Given the description of an element on the screen output the (x, y) to click on. 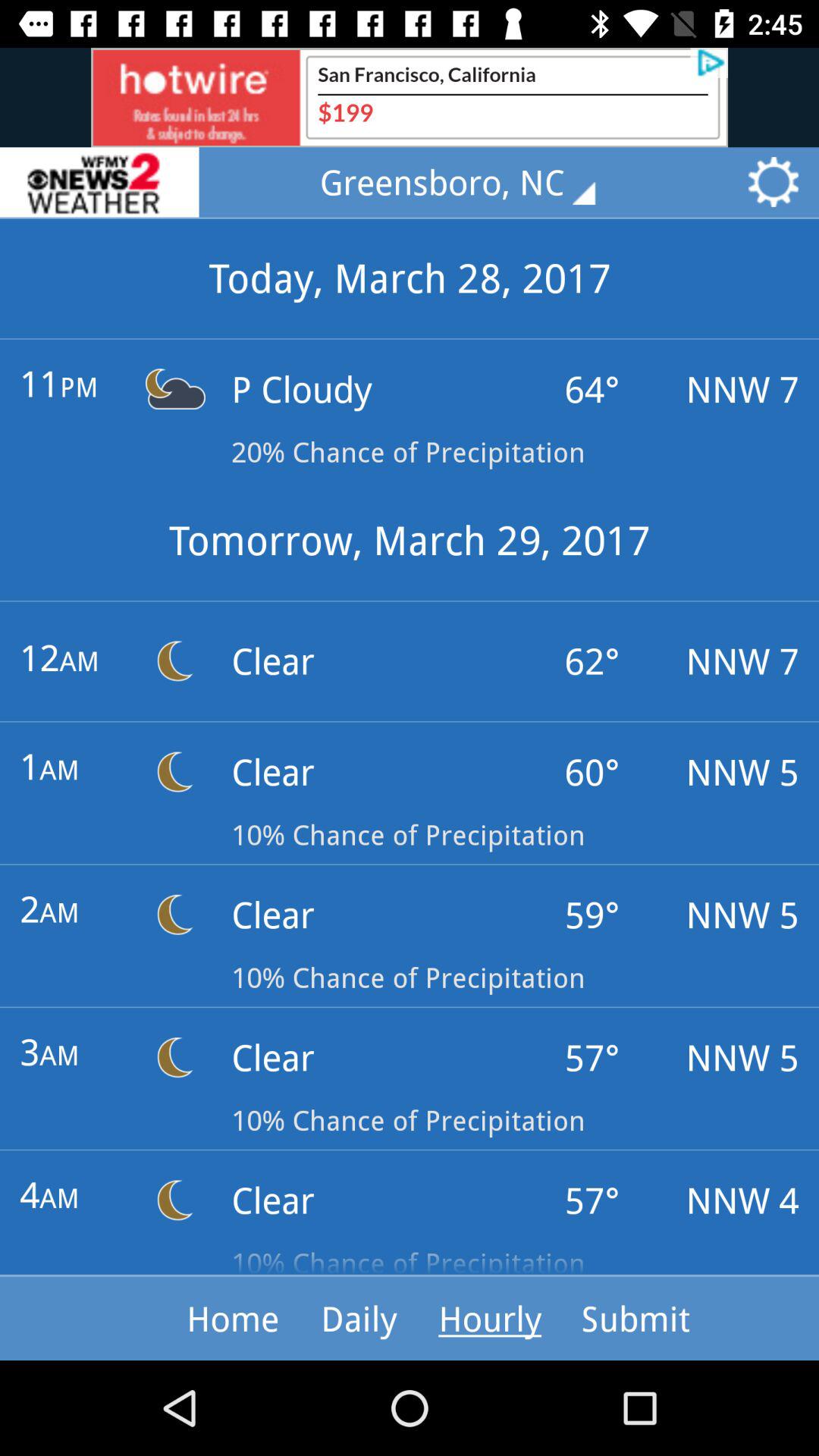
select advertisement (409, 97)
